Given the description of an element on the screen output the (x, y) to click on. 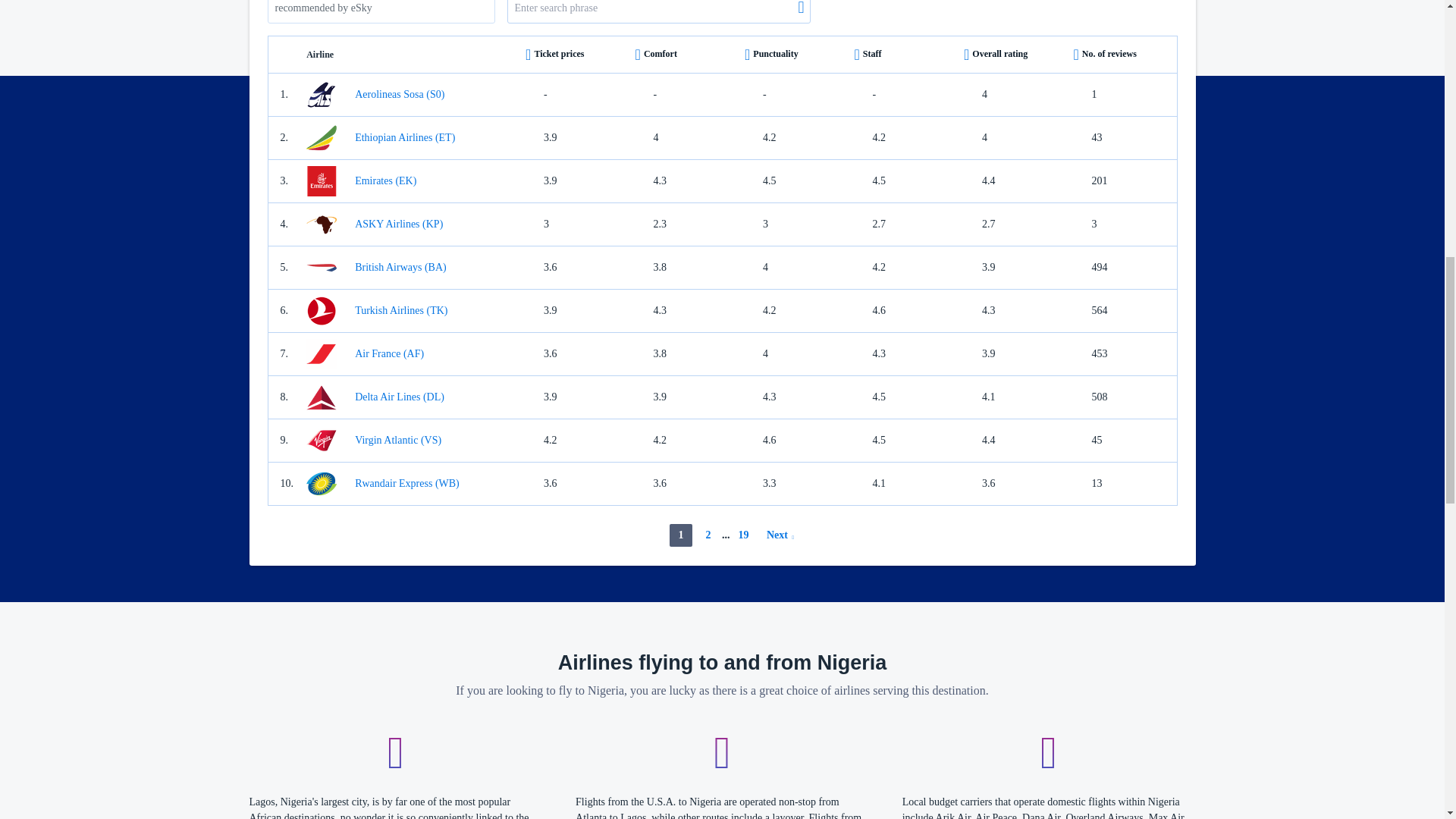
Aerolineas Sosa (409, 94)
Ethiopian Airlines (409, 137)
Staff (903, 54)
Overall rating (1012, 54)
Ticket prices (574, 54)
Comfort (683, 54)
Punctuality (792, 54)
No. of reviews (1121, 54)
